Given the description of an element on the screen output the (x, y) to click on. 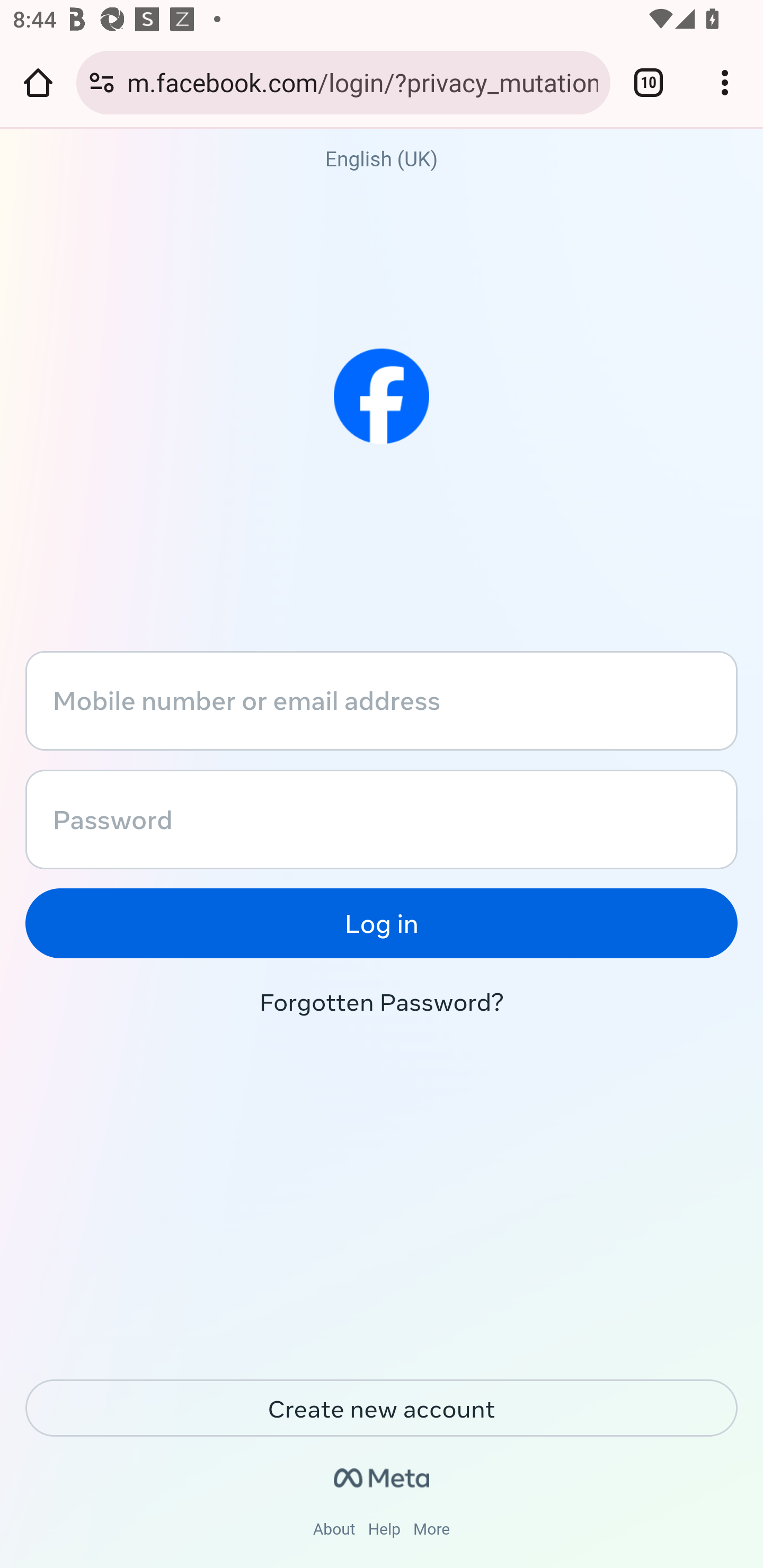
Open the home page (38, 82)
Connection is secure (101, 82)
Switch or close tabs (648, 82)
Customize and control Google Chrome (724, 82)
